Given the description of an element on the screen output the (x, y) to click on. 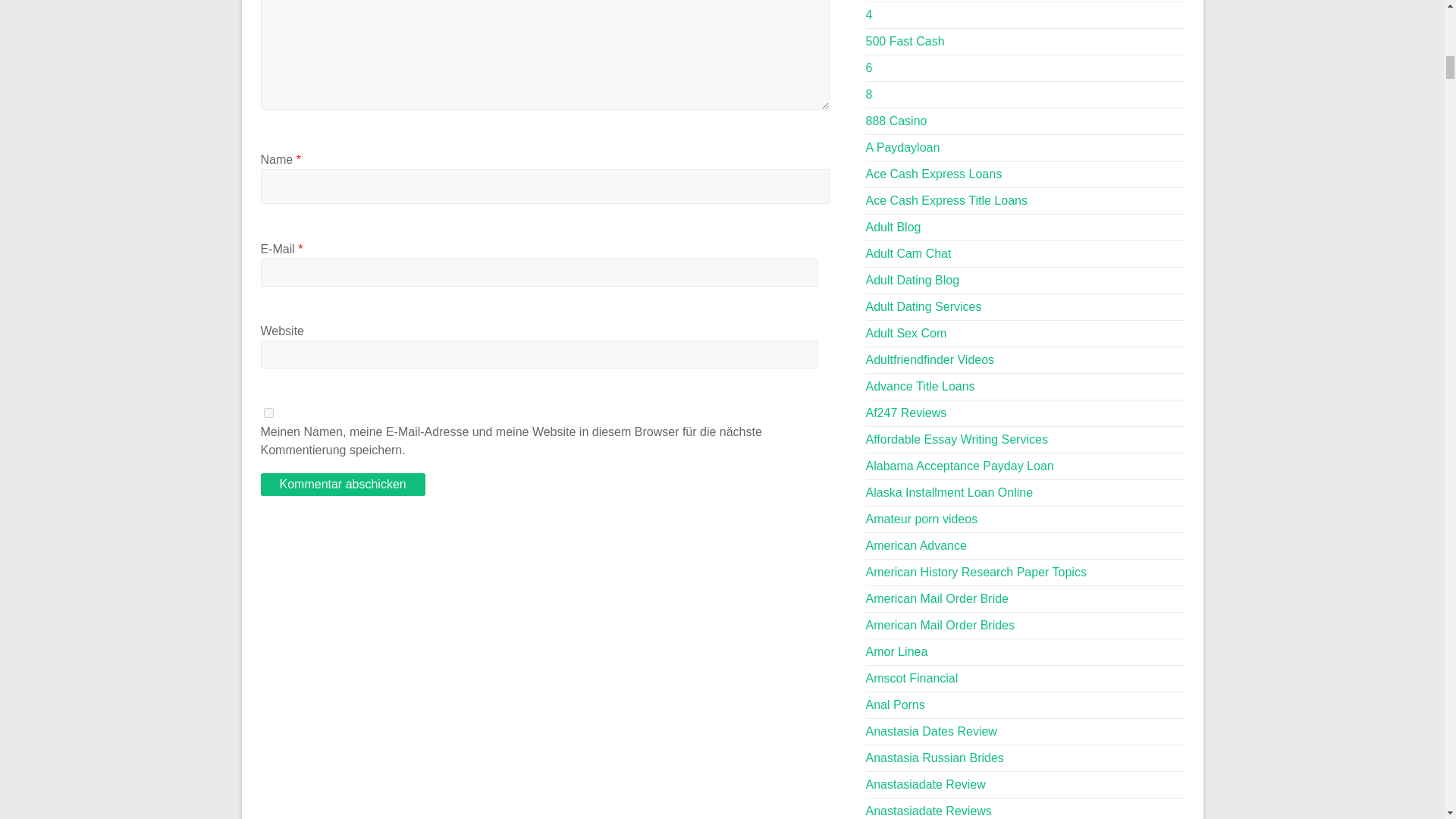
Kommentar abschicken (342, 484)
yes (268, 412)
Kommentar abschicken (342, 484)
